Given the description of an element on the screen output the (x, y) to click on. 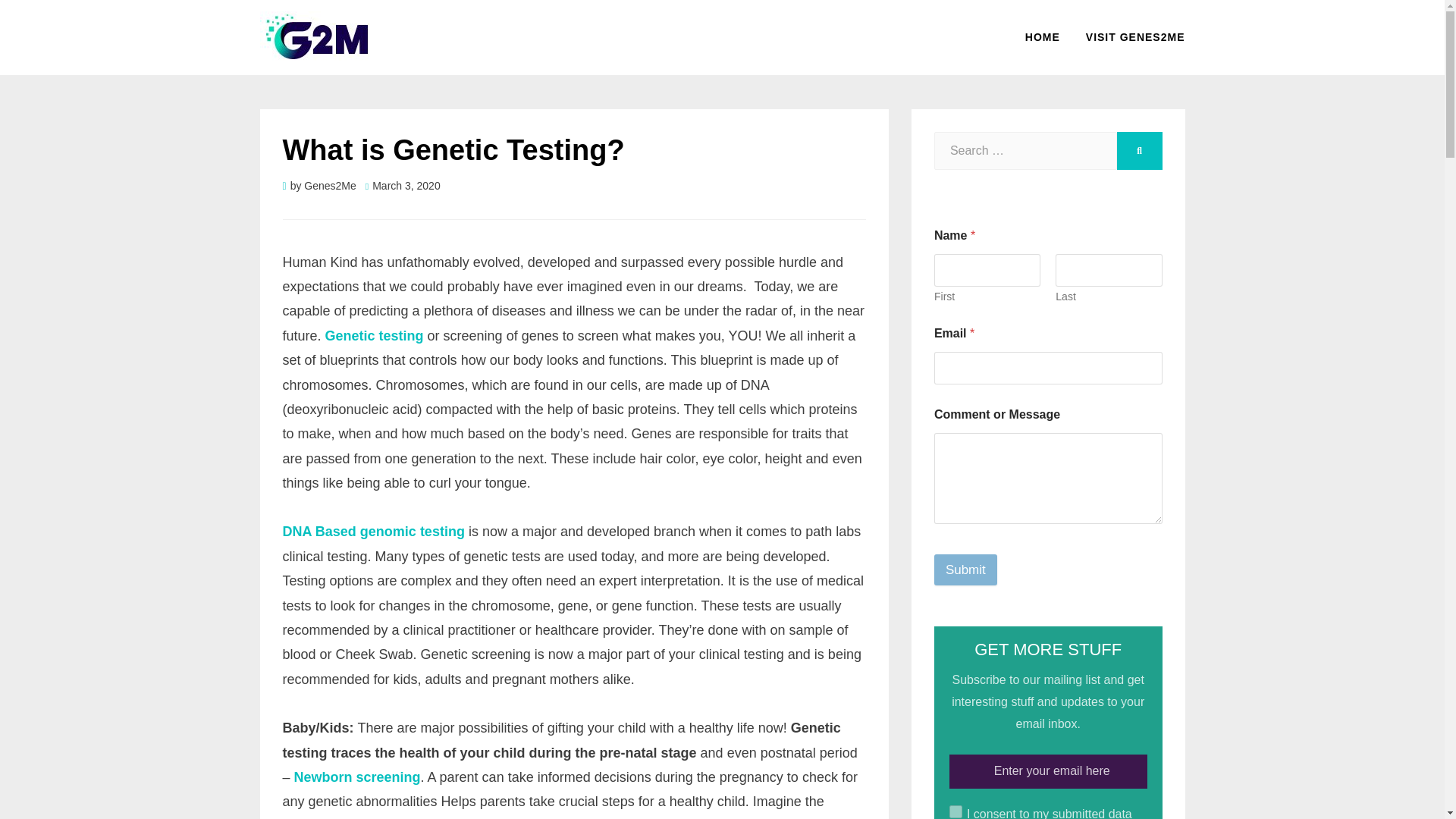
Newborn screening (357, 776)
SEARCH (1138, 150)
Genes2Me (329, 185)
Search for: (1025, 150)
Enter your email here (1048, 771)
DNA Based genomi (344, 531)
VISIT GENES2ME (1129, 36)
Genetic testing (373, 335)
March 3, 2020 (403, 185)
Submit (965, 569)
on (955, 811)
HOME (1042, 36)
testing (440, 531)
